Given the description of an element on the screen output the (x, y) to click on. 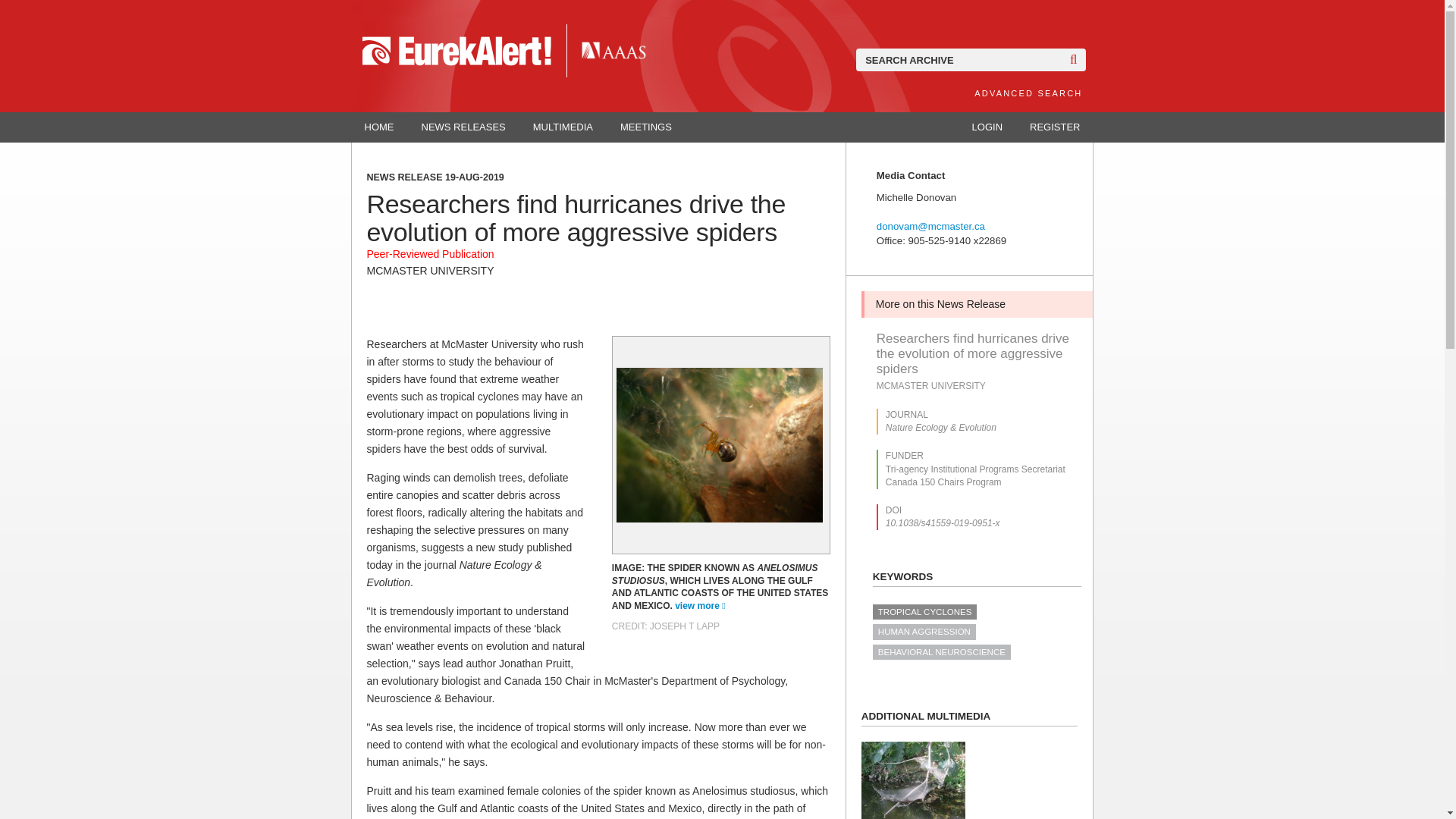
TROPICAL CYCLONES (924, 611)
ADVANCED SEARCH (1027, 92)
MULTIMEDIA (563, 127)
HOME (378, 127)
MEETINGS (646, 127)
REGISTER (1054, 127)
BEHAVIORAL NEUROSCIENCE (941, 652)
view more  (700, 605)
HUMAN AGGRESSION (923, 631)
NEWS RELEASES (463, 127)
LOGIN (987, 127)
Peer-Reviewed Publication (430, 254)
